Given the description of an element on the screen output the (x, y) to click on. 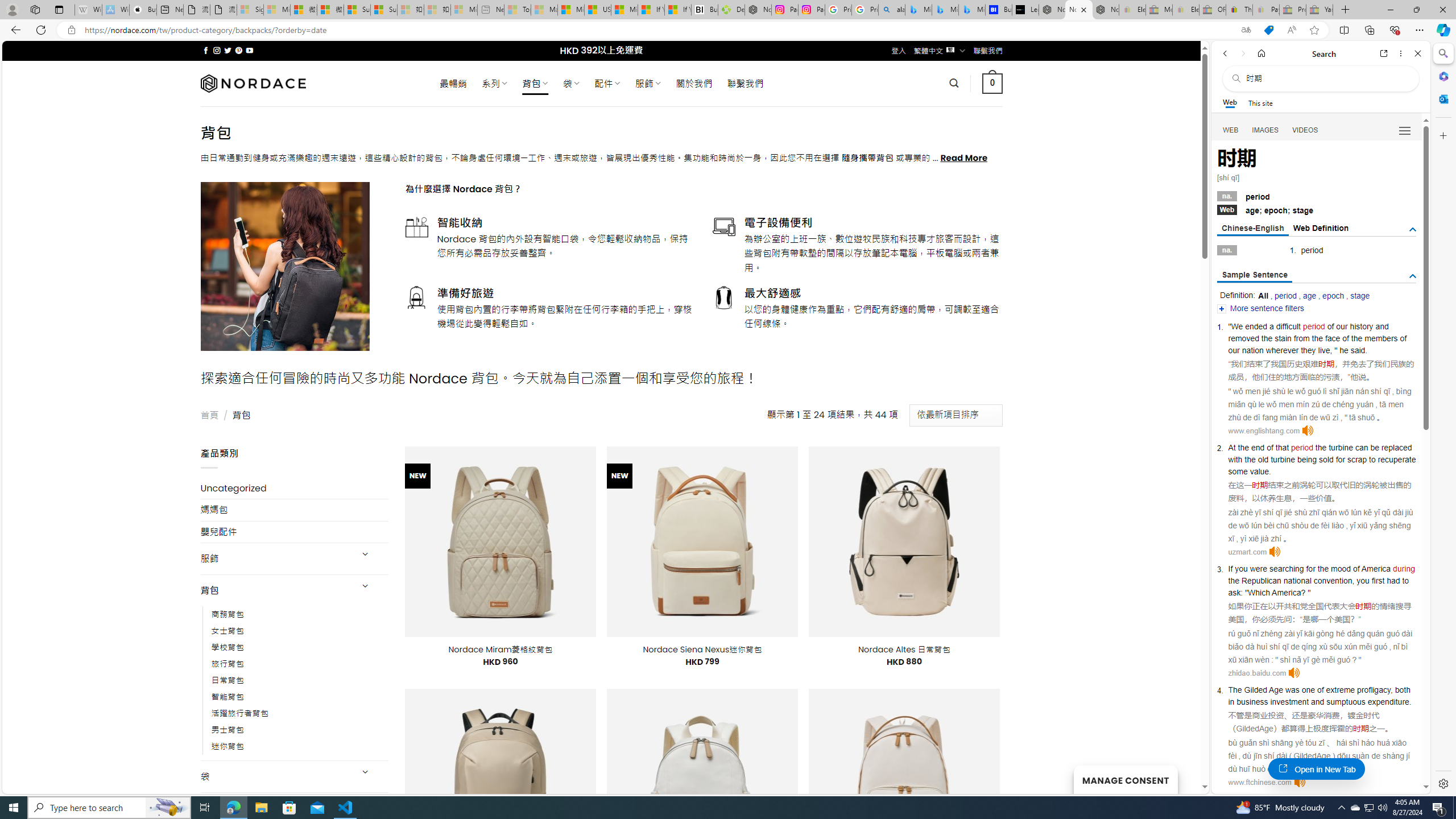
Search (1442, 53)
Top Stories - MSN - Sleeping (517, 9)
sold (1326, 459)
Webage; epoch; stage (1316, 209)
Wikipedia - Sleeping (87, 9)
